Given the description of an element on the screen output the (x, y) to click on. 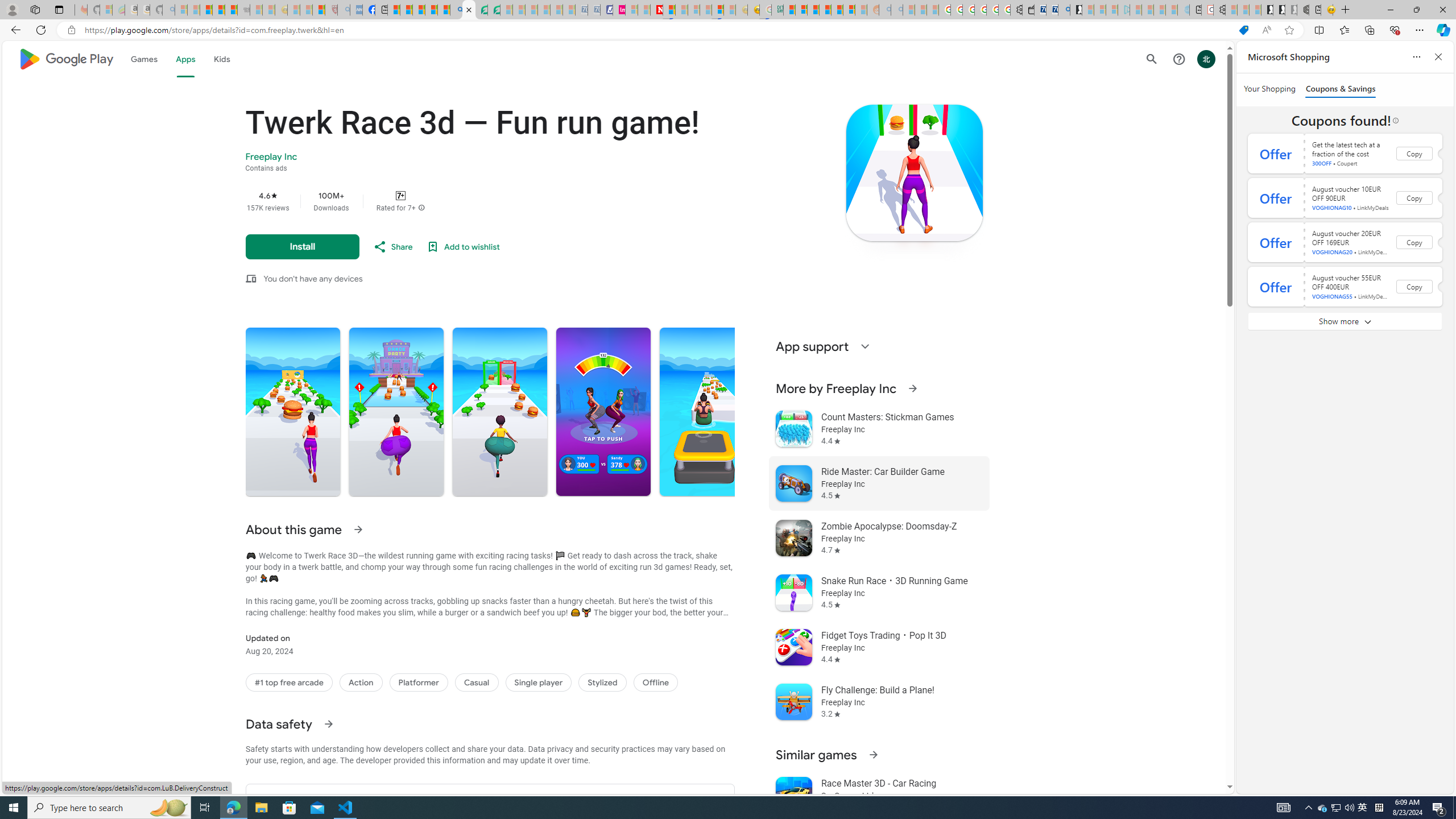
Screenshot image (706, 411)
Microsoft Start Gaming (1075, 9)
Split screen (1318, 29)
Copilot (Ctrl+Shift+.) (1442, 29)
Trusted Community Engagement and Contributions | Guidelines (668, 9)
Collections (1369, 29)
Terms of Use Agreement (481, 9)
Kids (220, 58)
Freeplay Inc (270, 156)
Restore (1416, 9)
